Given the description of an element on the screen output the (x, y) to click on. 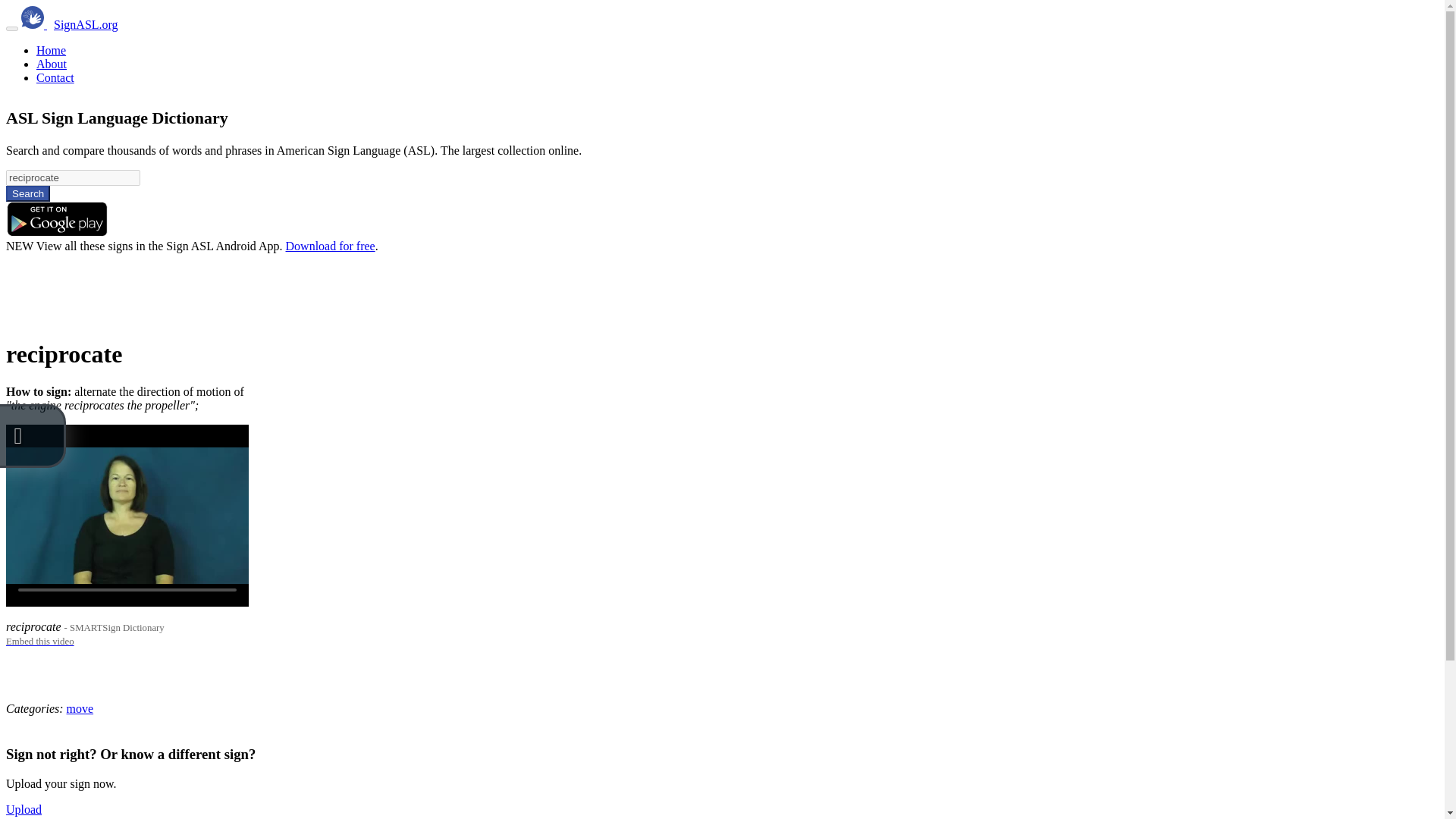
About (51, 63)
reciprocate (72, 177)
SignASL.org (85, 24)
Contact (55, 77)
Advertisement (281, 287)
Home (50, 50)
Download for free (330, 245)
Embed this video (39, 640)
Upload (23, 809)
Embed this video (39, 640)
